Given the description of an element on the screen output the (x, y) to click on. 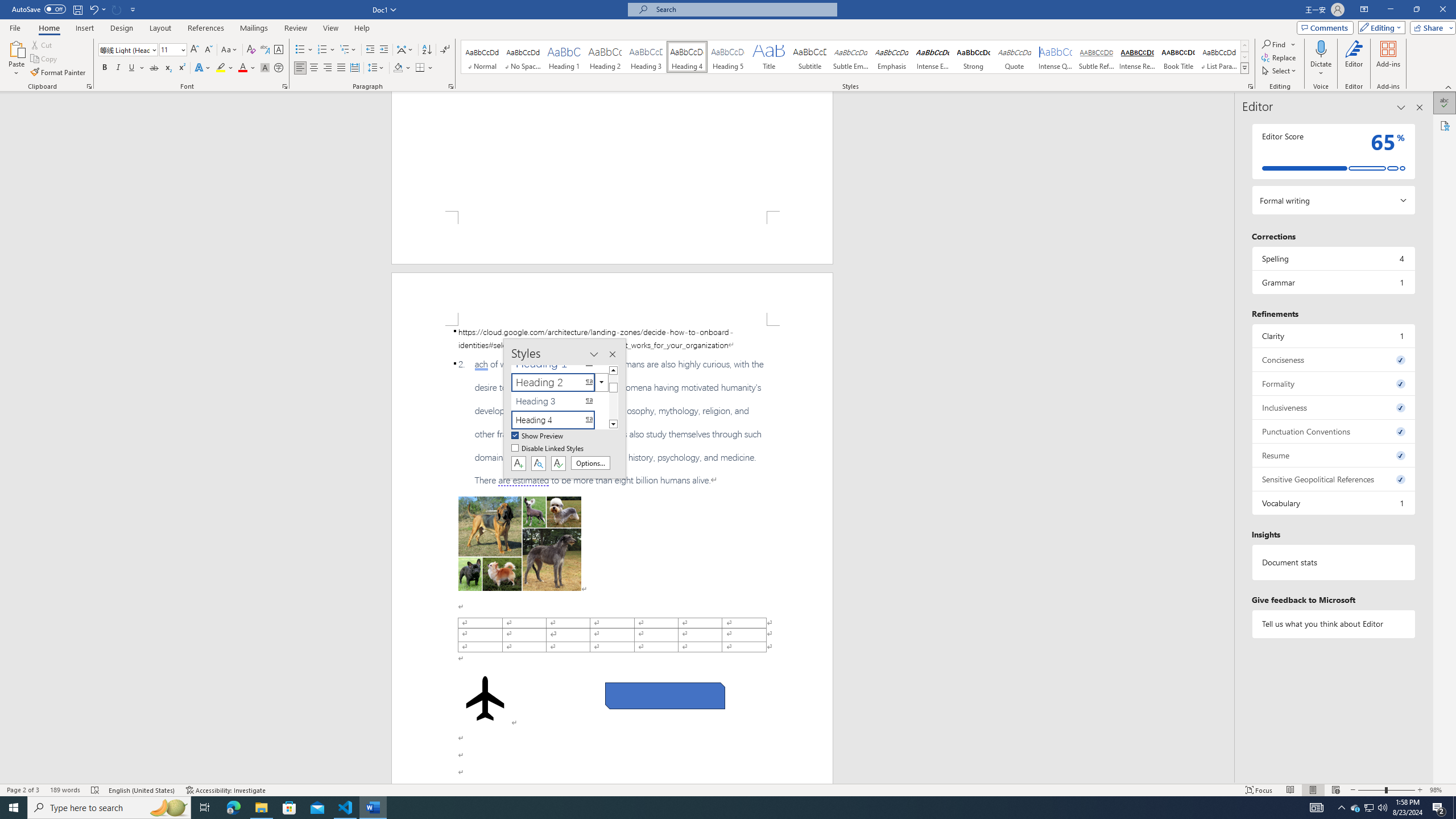
Resume, 0 issues. Press space or enter to review items. (1333, 454)
Quote (1014, 56)
Grammar, 1 issue. Press space or enter to review items. (1333, 282)
2. (611, 422)
